Given the description of an element on the screen output the (x, y) to click on. 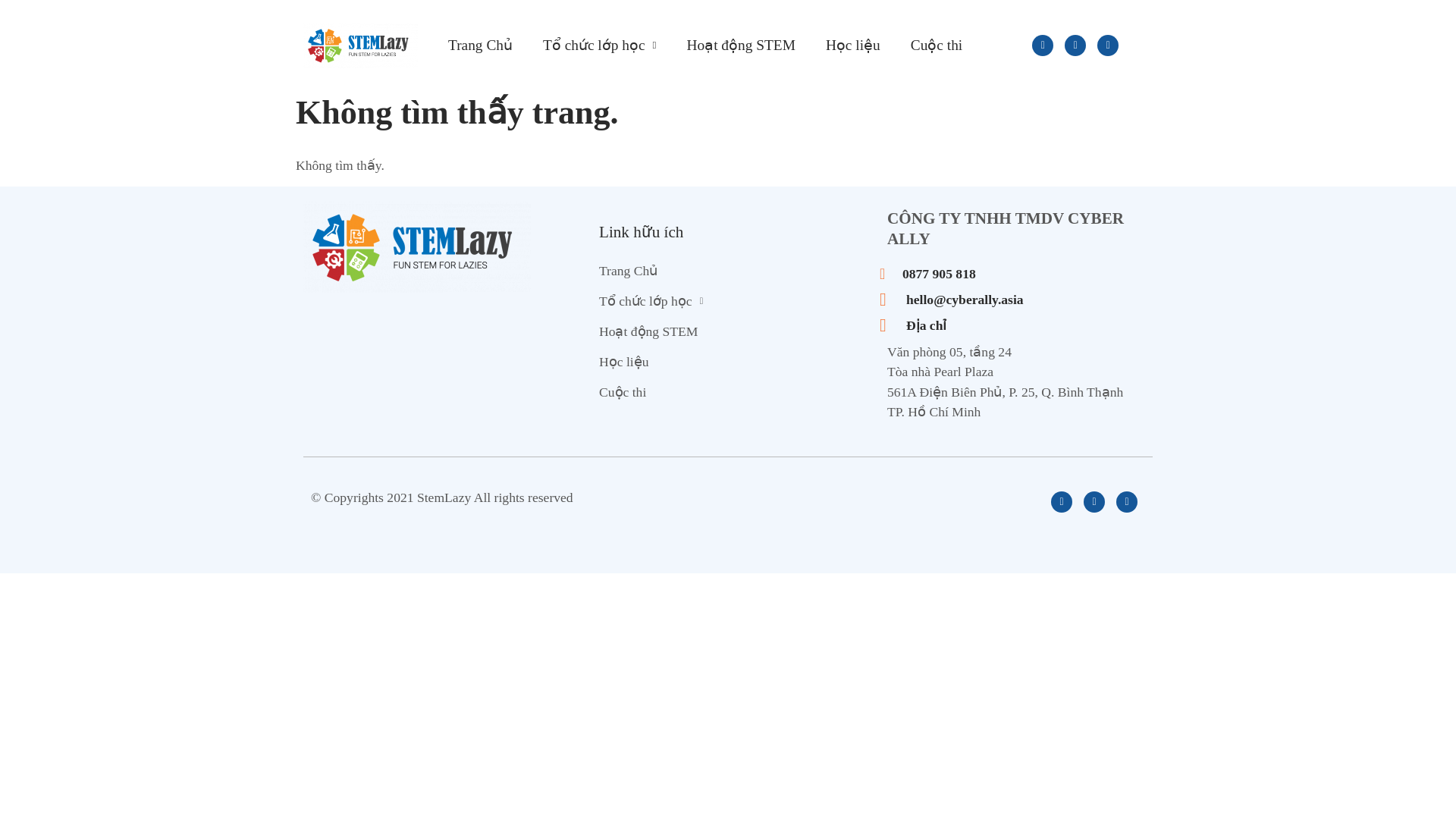
0877 905 818 (1016, 273)
